Given the description of an element on the screen output the (x, y) to click on. 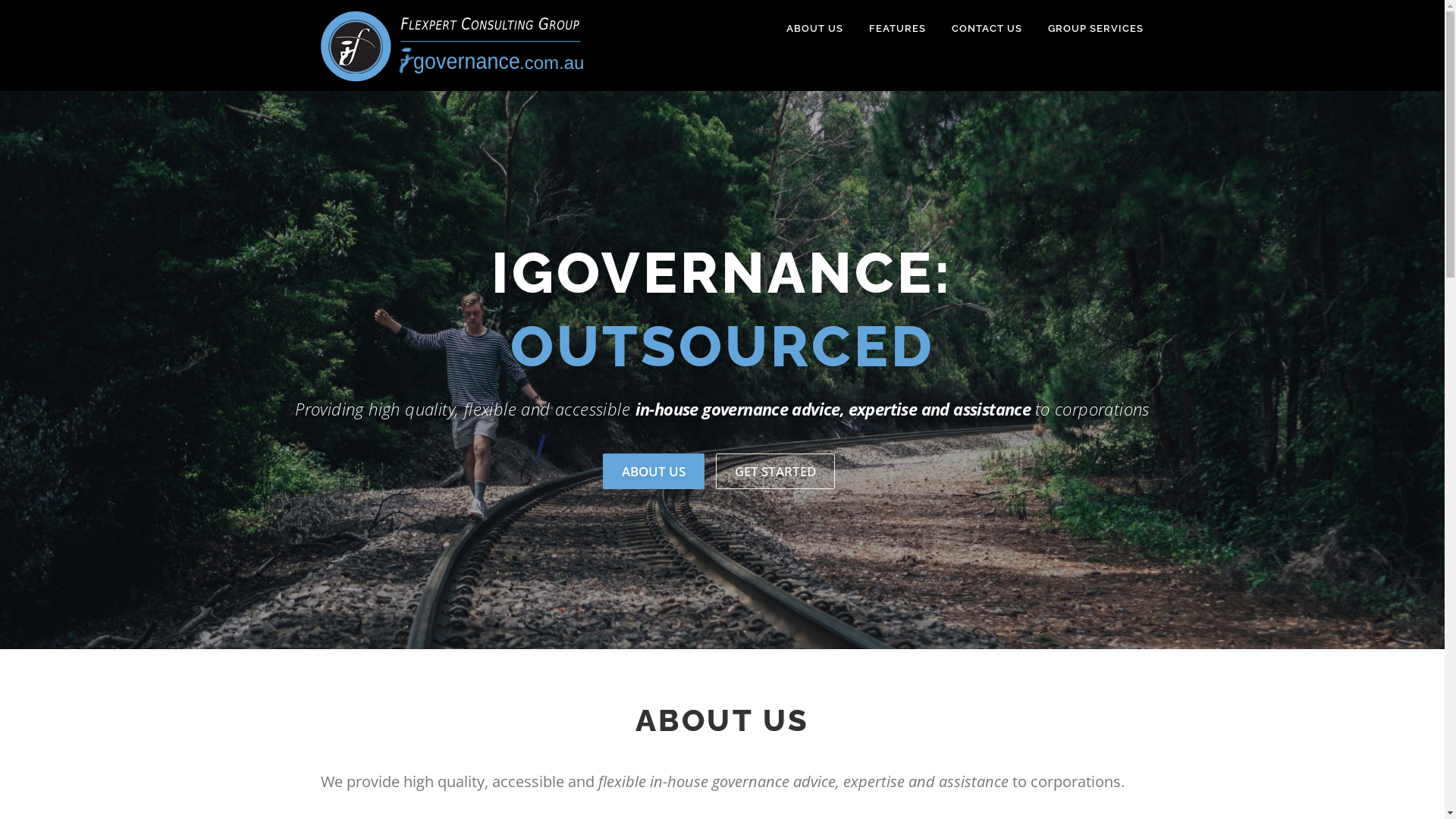
ABOUT US Element type: text (652, 471)
GET STARTED Element type: text (774, 471)
ABOUT US Element type: text (814, 28)
GROUP SERVICES Element type: text (1088, 28)
FEATURES Element type: text (896, 28)
CONTACT US Element type: text (986, 28)
